Given the description of an element on the screen output the (x, y) to click on. 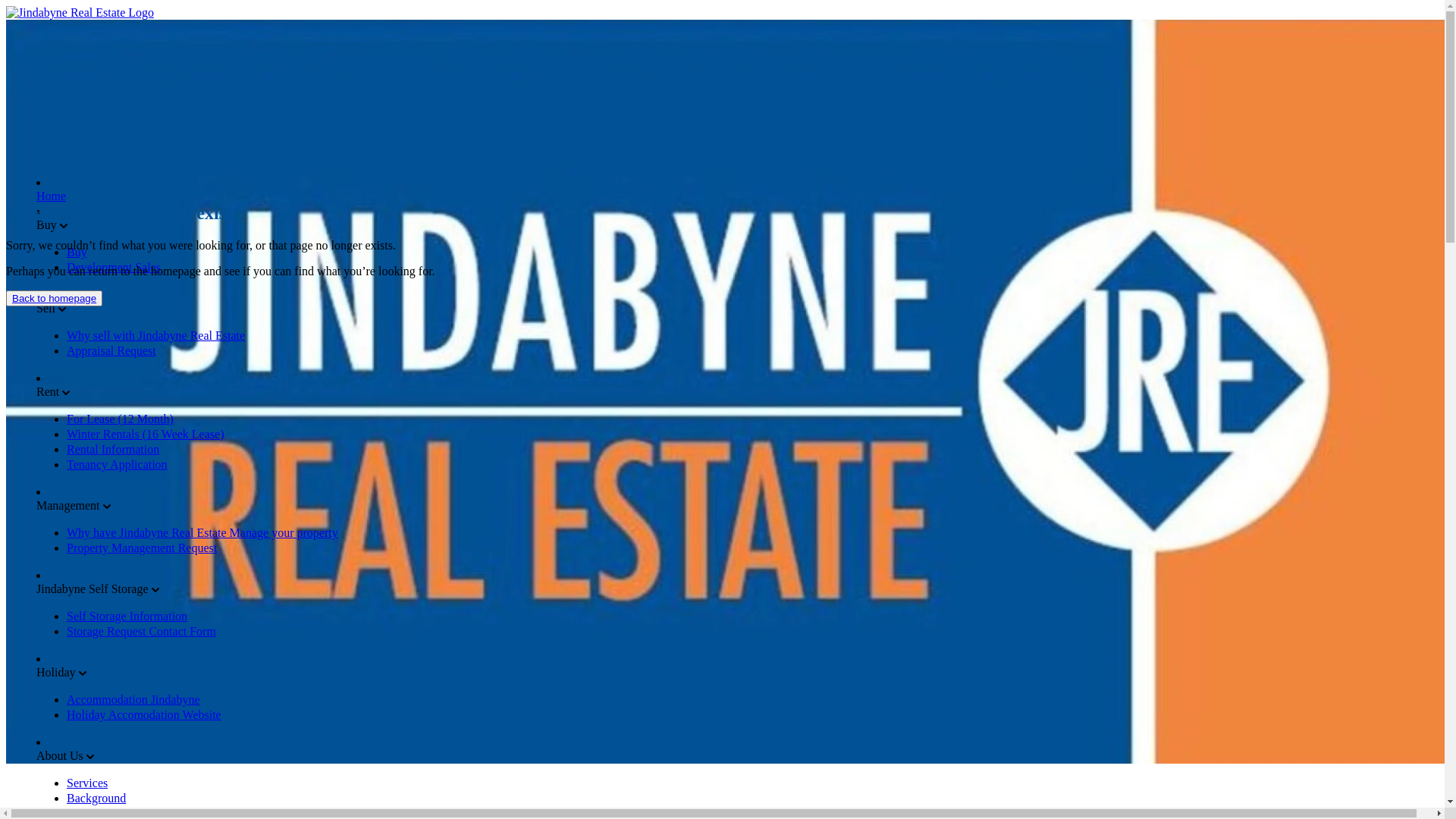
Development Sales Element type: text (113, 266)
Holiday Accomodation Website Element type: text (143, 714)
Rent Element type: text (49, 391)
Buy Element type: text (47, 224)
Holiday Element type: text (57, 671)
Rental Information Element type: text (112, 448)
Self Storage Information Element type: text (126, 615)
Storage Request Contact Form Element type: text (141, 630)
Management Element type: text (69, 504)
Why sell with Jindabyne Real Estate Element type: text (155, 335)
Back to homepage Element type: text (54, 298)
For Lease (12 Month) Element type: text (119, 418)
Tenancy Application Element type: text (116, 464)
Why have Jindabyne Real Estate Manage your property Element type: text (202, 532)
Property Management Request Element type: text (141, 547)
Services Element type: text (86, 782)
Back to homepage Element type: text (54, 298)
Sell Element type: text (47, 307)
Buy Element type: text (76, 251)
Appraisal Request Element type: text (111, 350)
About Us Element type: text (61, 755)
Background Element type: text (95, 797)
Winter Rentals (16 Week Lease) Element type: text (144, 433)
Home Element type: text (50, 195)
Accommodation Jindabyne Element type: text (133, 699)
Jindabyne Self Storage Element type: text (93, 588)
